Given the description of an element on the screen output the (x, y) to click on. 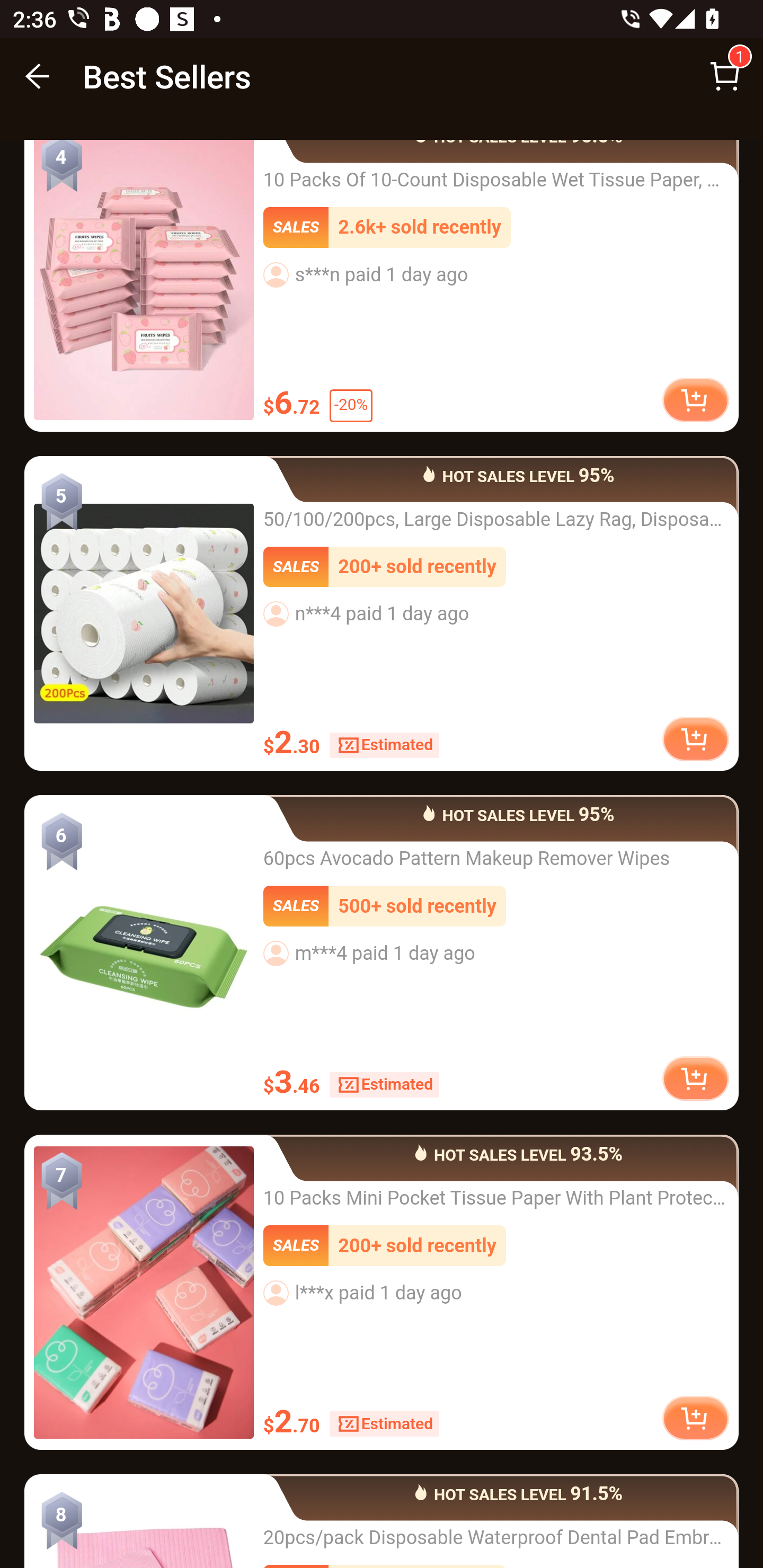
BACK (38, 75)
Cart 1 (724, 75)
add to cart (695, 400)
add to cart (695, 739)
60pcs Avocado Pattern Makeup Remover Wipes (143, 953)
add to cart (695, 1079)
add to cart (695, 1417)
